Given the description of an element on the screen output the (x, y) to click on. 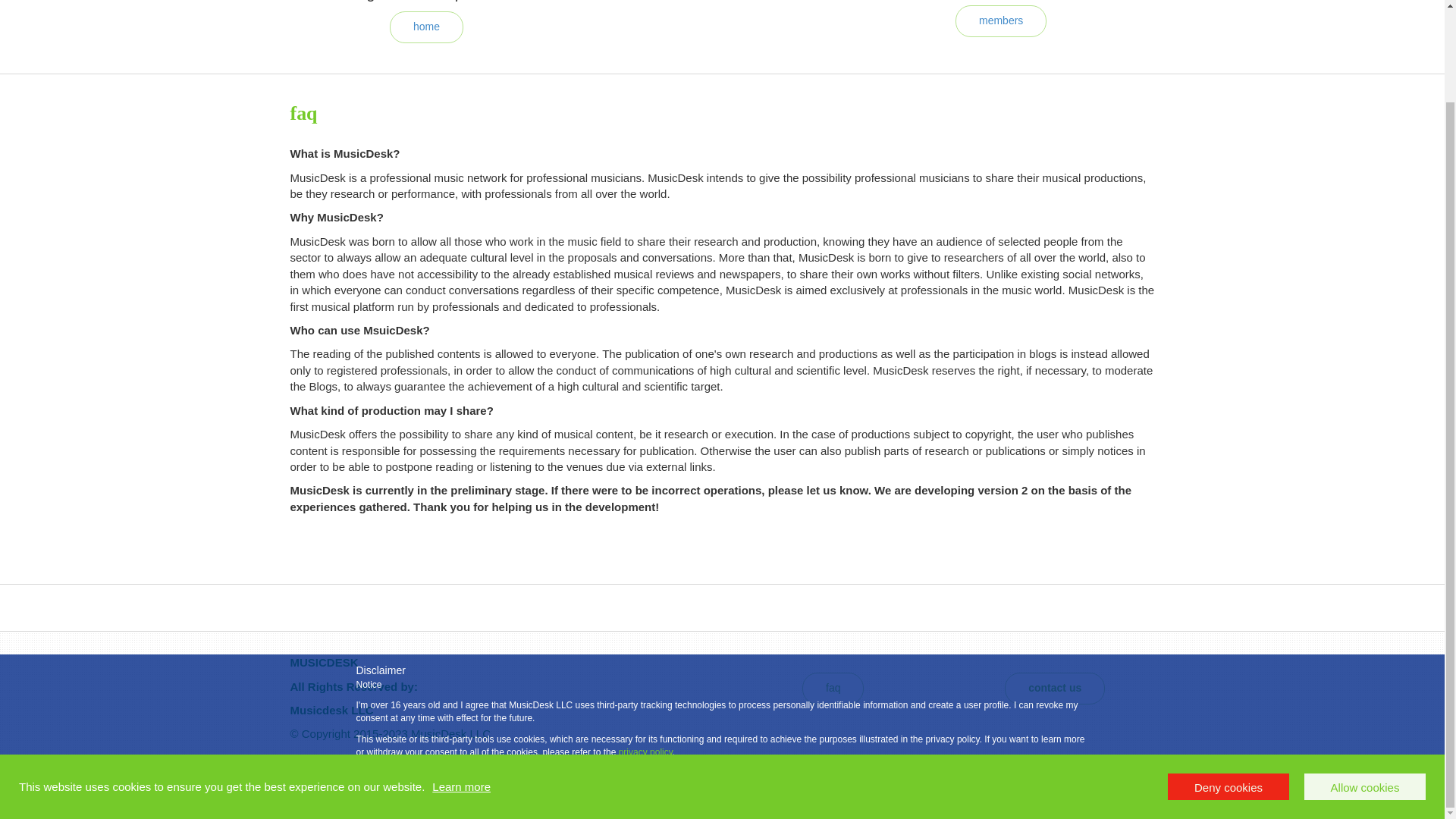
faq (832, 687)
Learn more (461, 680)
home (426, 26)
members (1000, 20)
privacy policy (645, 645)
Allow cookies (1364, 680)
Deny cookies (1227, 680)
contact us (1054, 687)
Log in (1139, 795)
concrete5 (363, 795)
